Given the description of an element on the screen output the (x, y) to click on. 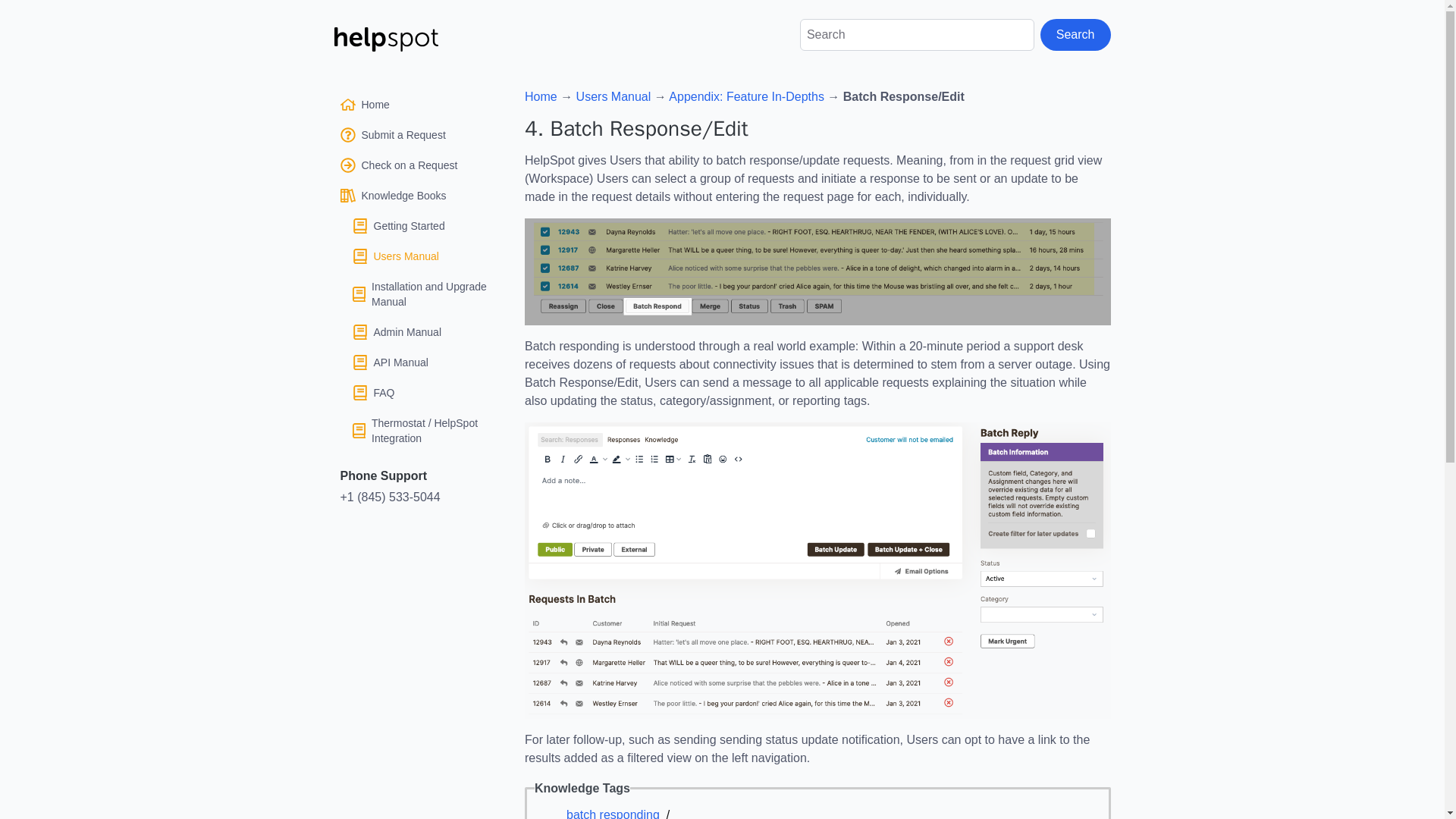
Search (1075, 34)
Appendix: Feature In-Depths (746, 96)
batch responding (612, 812)
API Manual (416, 361)
Home (540, 96)
FAQ (416, 392)
Check on a Request (416, 165)
Knowledge Books (416, 195)
Submit a Request (416, 134)
Installation and Upgrade Manual (416, 293)
